Given the description of an element on the screen output the (x, y) to click on. 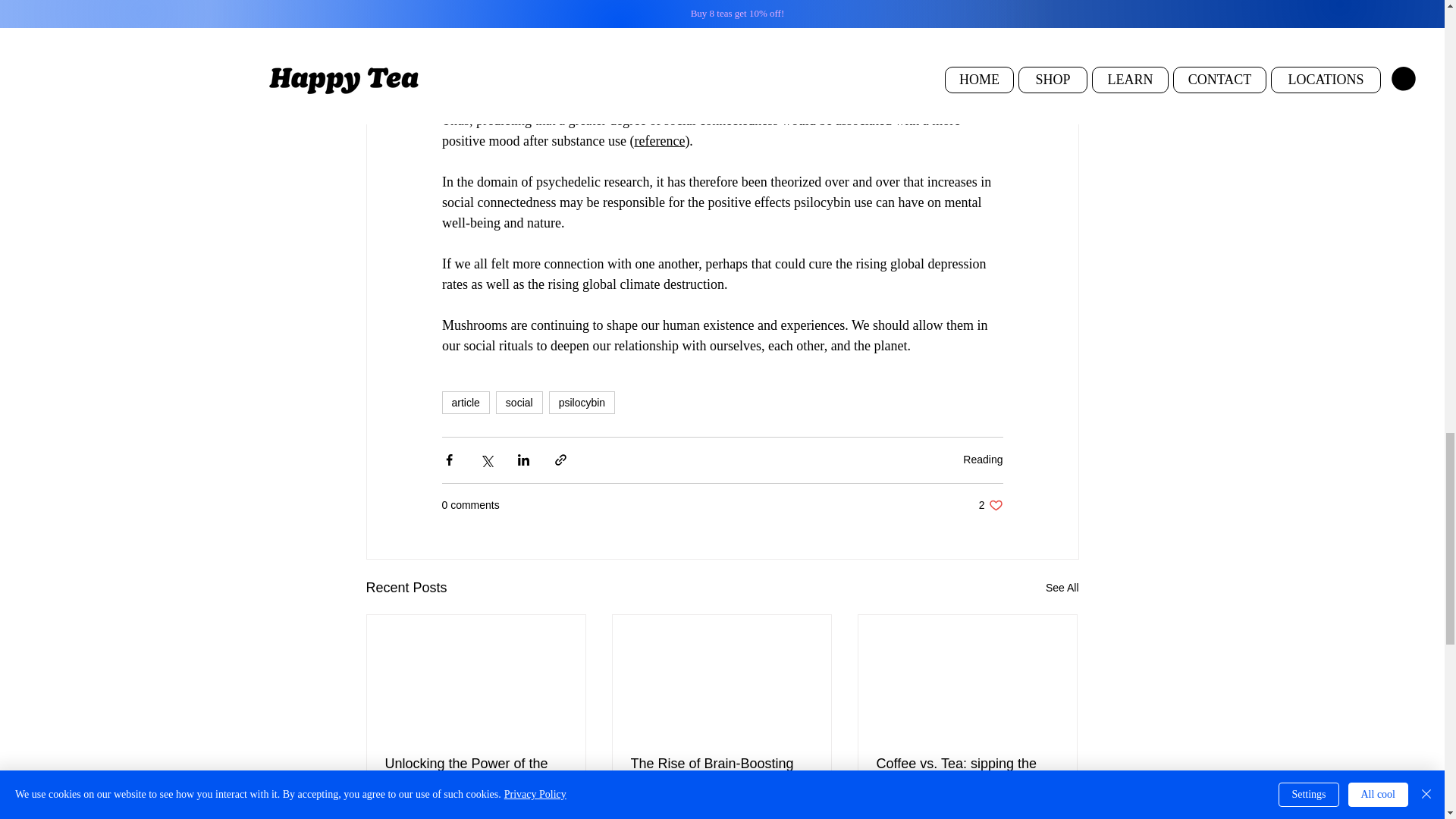
psilocybin (581, 402)
article (465, 402)
reference (590, 2)
social (519, 402)
reference (658, 140)
